Given the description of an element on the screen output the (x, y) to click on. 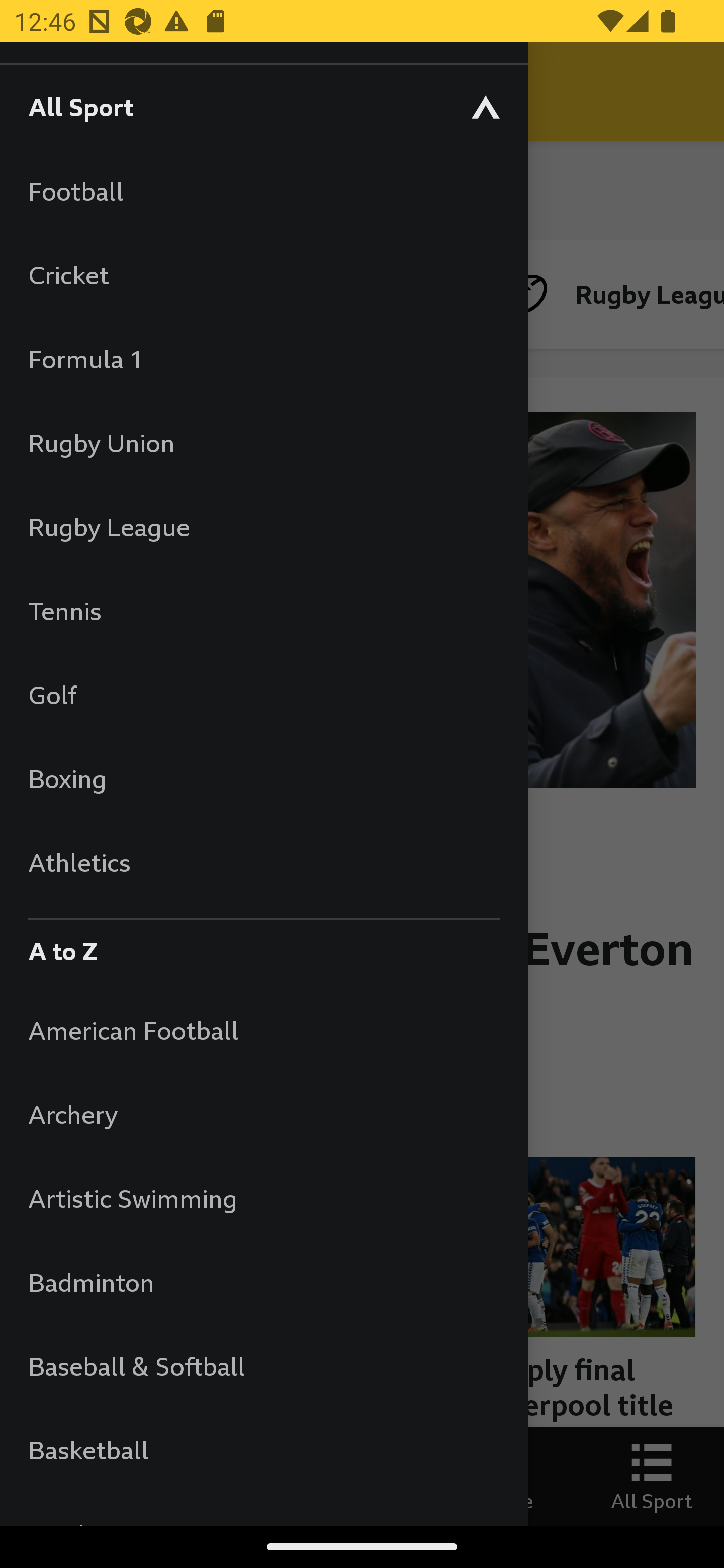
All Sport (263, 105)
Football (263, 190)
Cricket (263, 274)
Formula 1 (263, 358)
Rugby Union (263, 441)
Rugby League (263, 526)
Tennis (263, 609)
Golf (263, 694)
Boxing (263, 778)
Athletics (263, 862)
A to Z (263, 945)
American Football (263, 1029)
Archery (263, 1114)
Artistic Swimming (263, 1197)
Badminton (263, 1282)
Baseball & Softball (263, 1365)
Basketball (263, 1450)
